Given the description of an element on the screen output the (x, y) to click on. 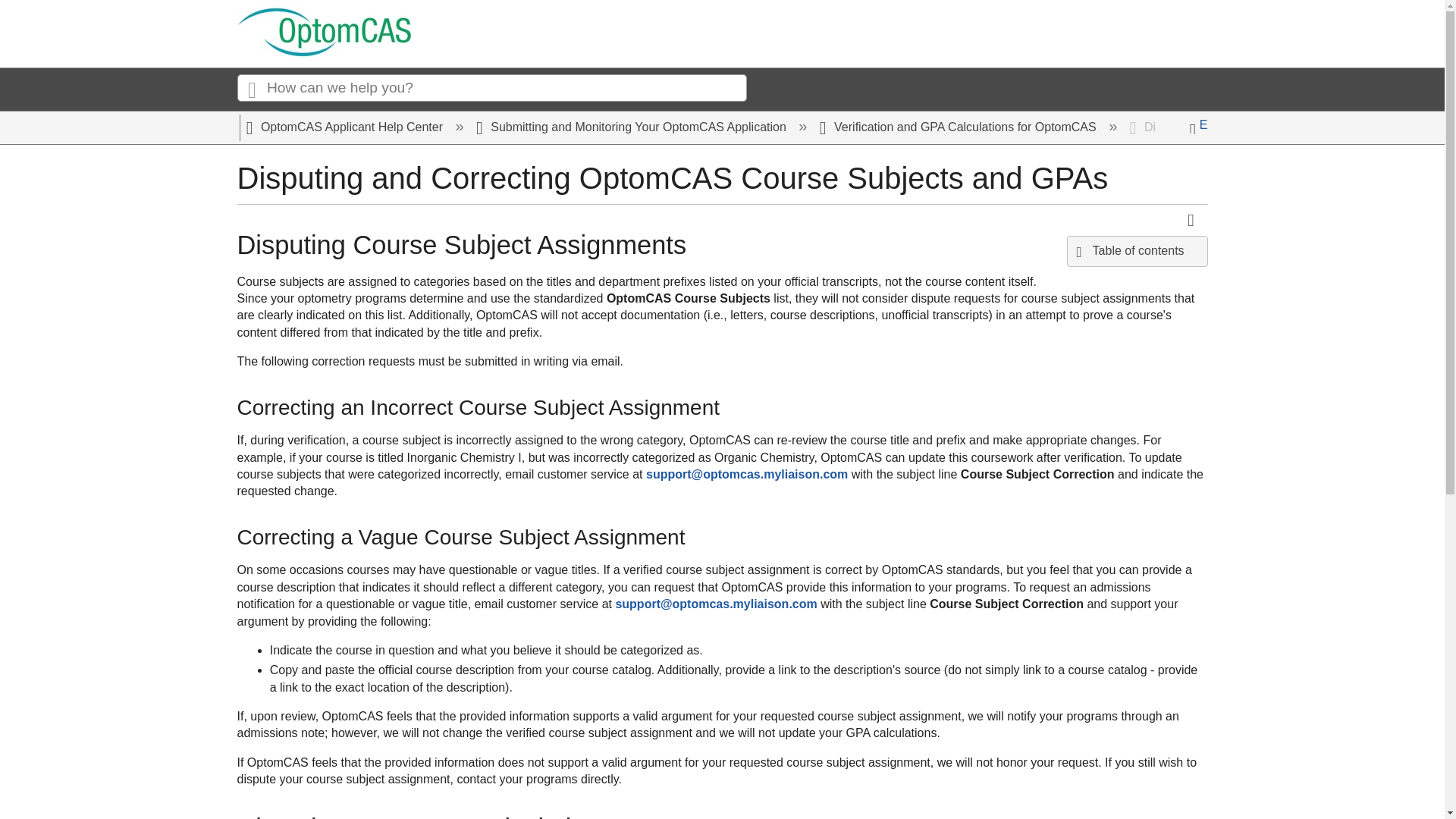
Search (250, 88)
Verification and GPA Calculations for OptomCAS (959, 126)
Submitting and Monitoring Your OptomCAS Application (632, 126)
OptomCAS Applicant Help Center (346, 126)
Table of contents (1137, 251)
